Given the description of an element on the screen output the (x, y) to click on. 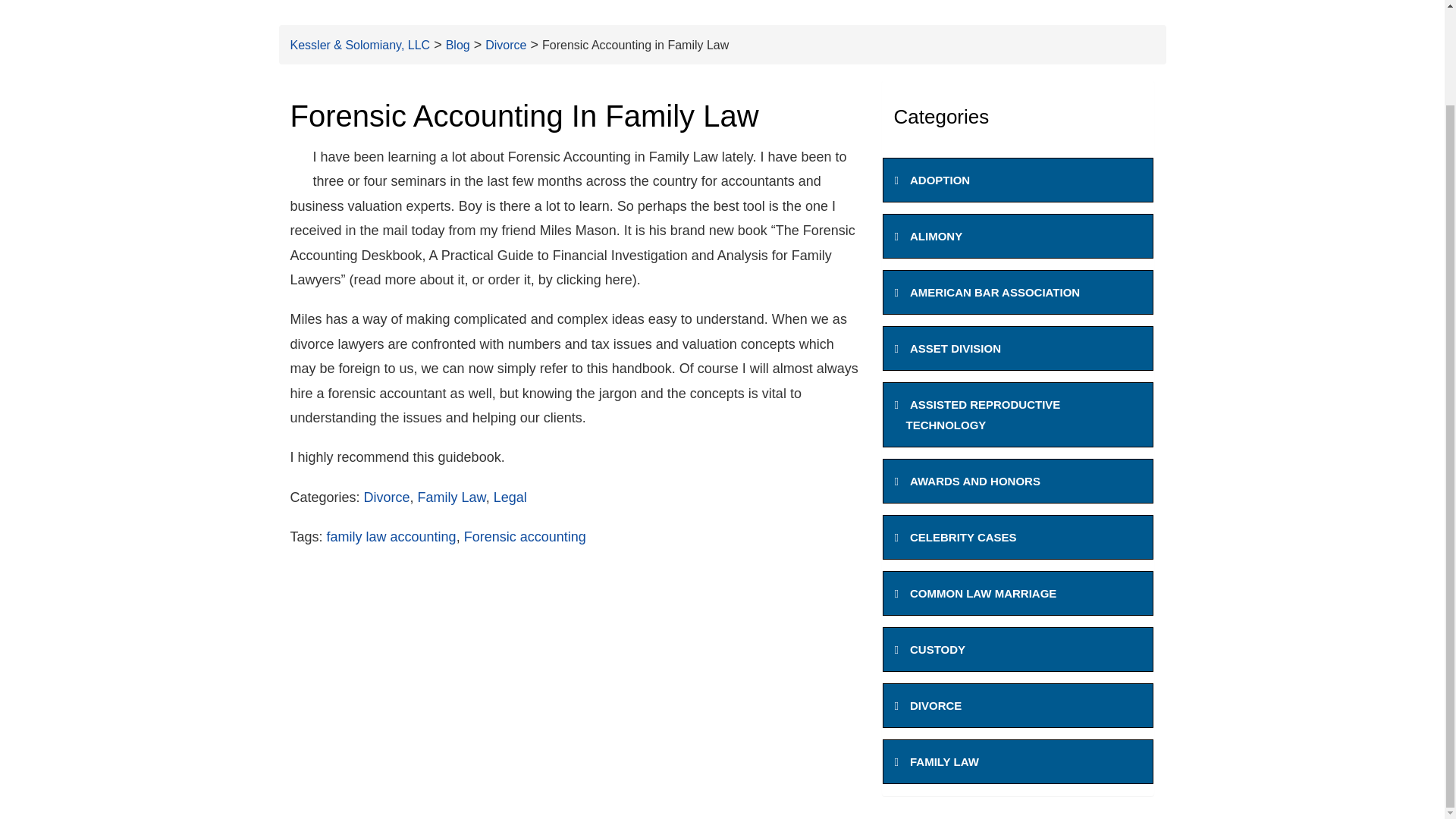
Go to Blog. (457, 44)
Go to the Divorce Category archives. (504, 44)
